Given the description of an element on the screen output the (x, y) to click on. 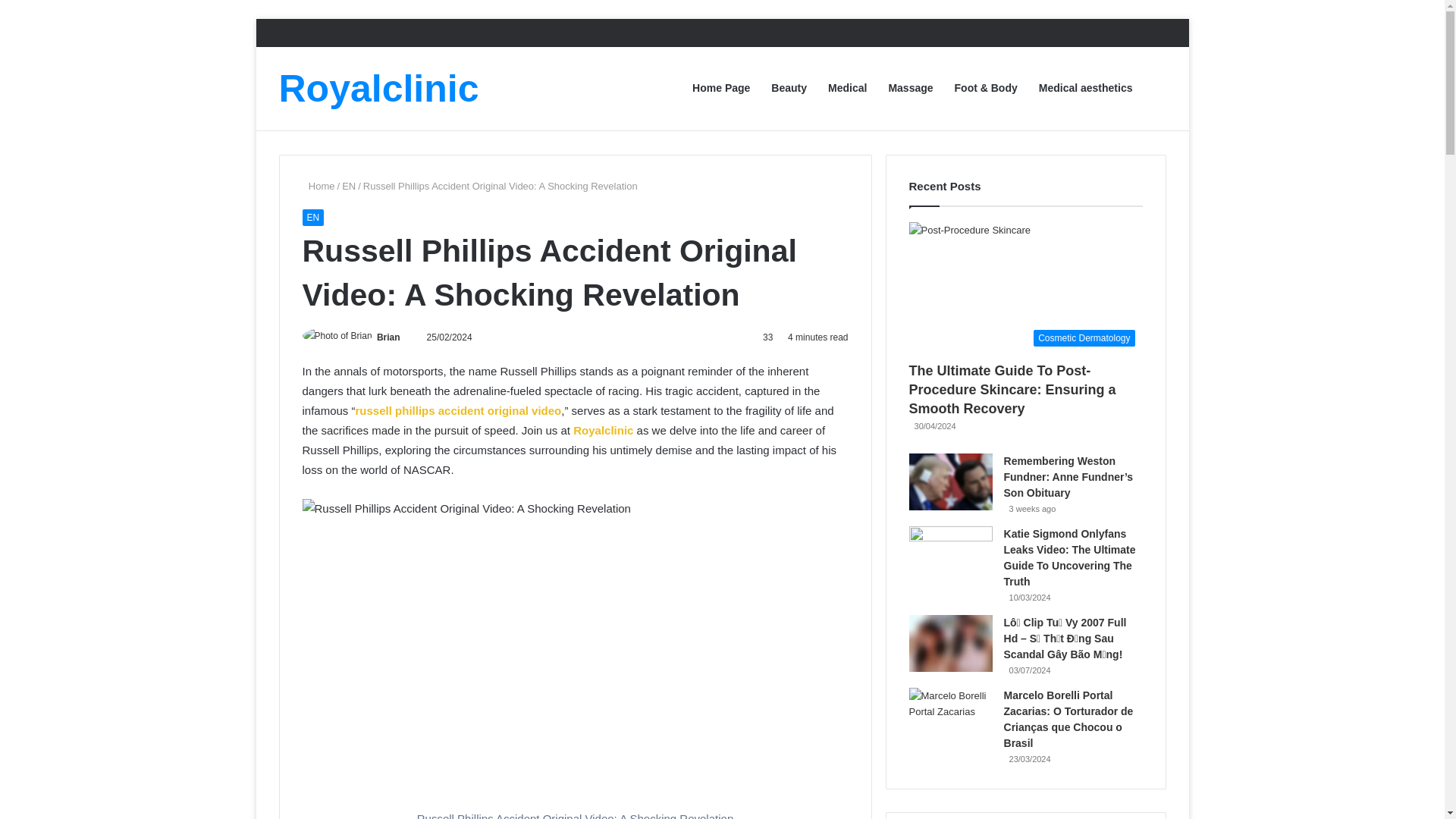
EN (312, 217)
Royalclinic (379, 88)
Royalclinic (603, 430)
Royalclinic (379, 88)
Medical aesthetics (1084, 87)
Brian (388, 337)
EN (348, 185)
Home (317, 185)
russell phillips accident original video (458, 410)
